Given the description of an element on the screen output the (x, y) to click on. 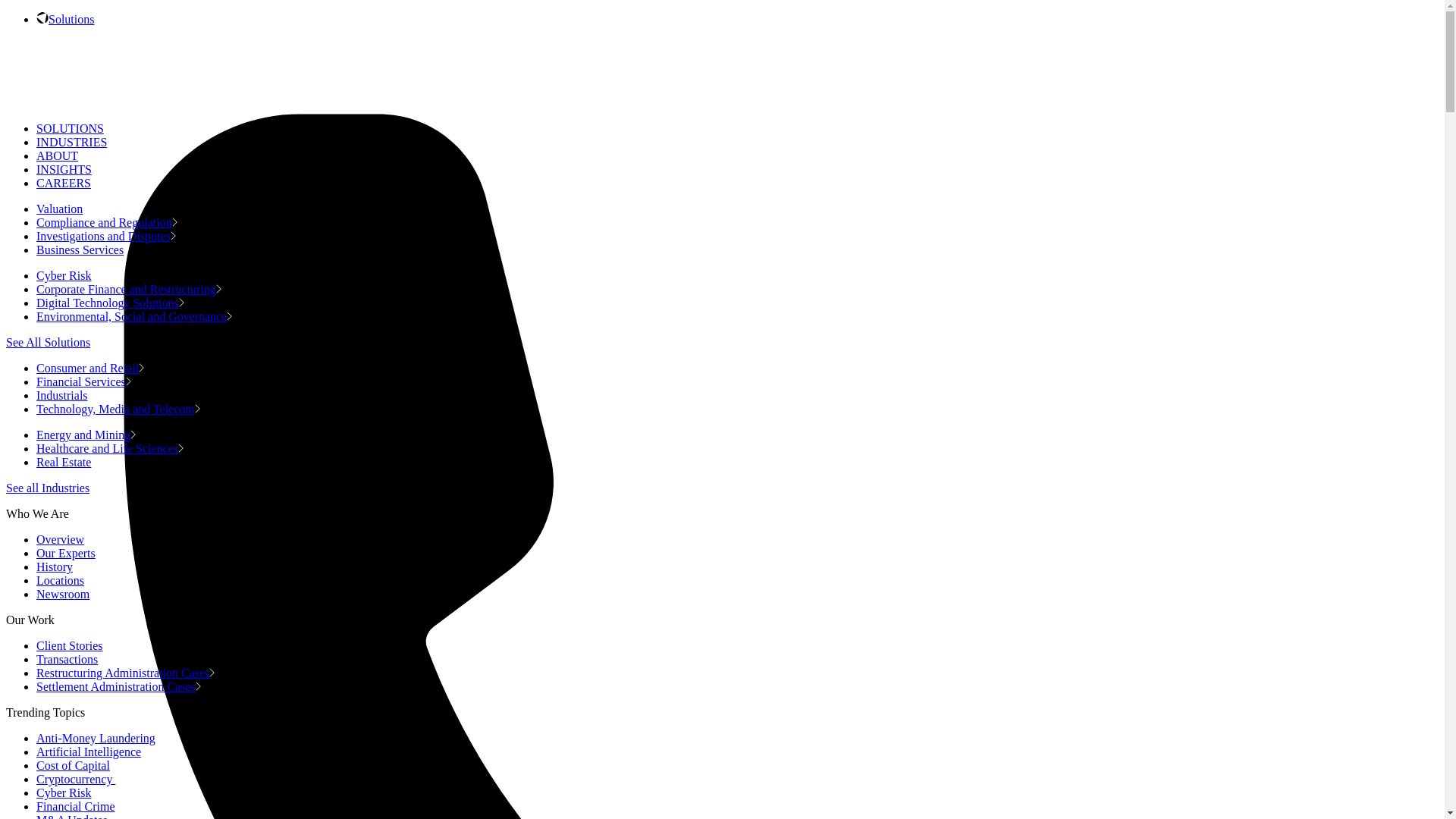
INDUSTRIES (71, 141)
Energy and Mining (85, 434)
Valuation (61, 208)
SOLUTIONS (69, 128)
ABOUT (57, 155)
Solutions (71, 19)
See All Solutions (47, 341)
Investigations and Disputes (106, 236)
Cyber Risk (66, 275)
CAREERS (63, 182)
